Given the description of an element on the screen output the (x, y) to click on. 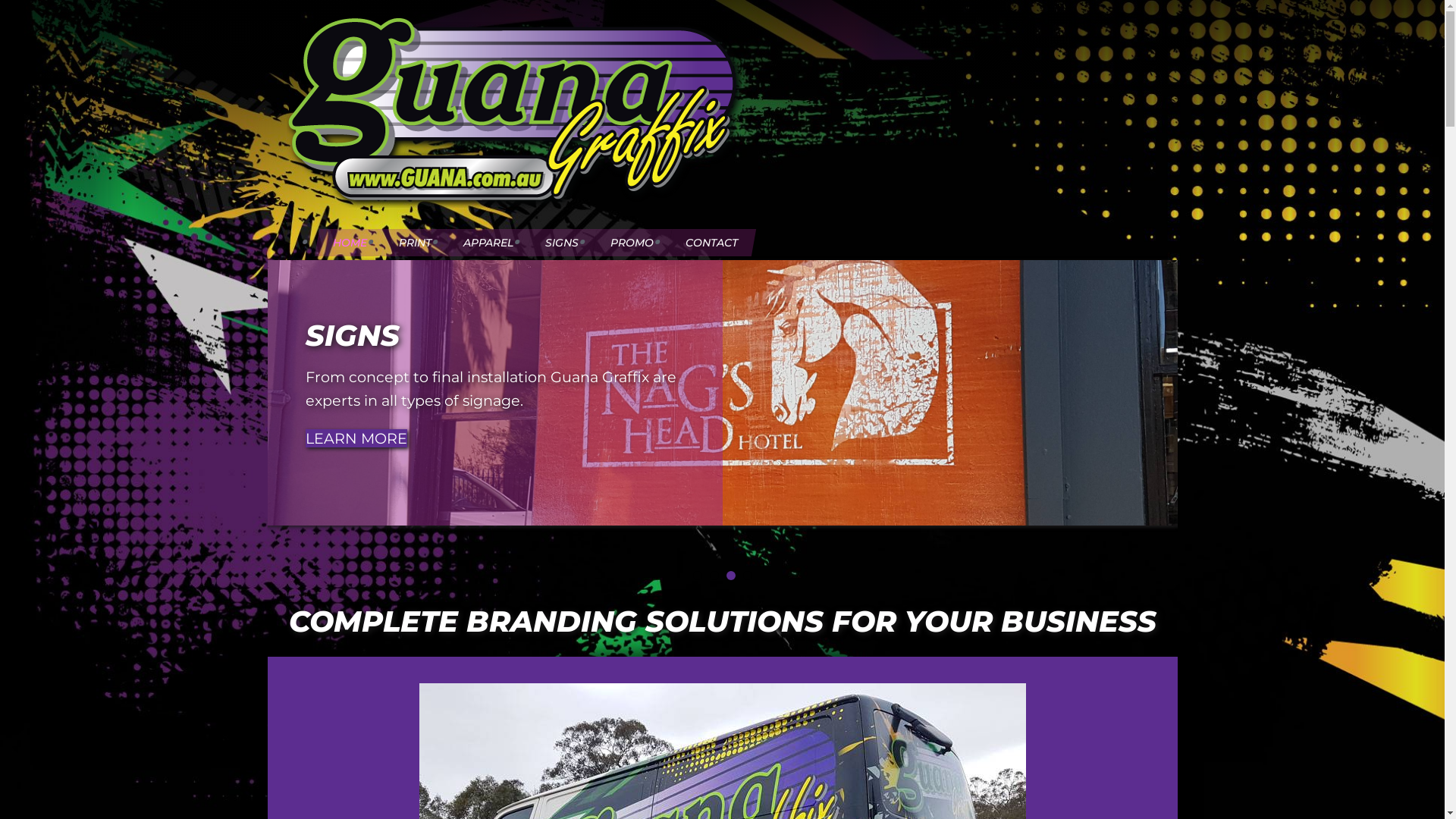
3 Element type: text (730, 575)
APPAREL Element type: text (488, 242)
CONTACT Element type: text (711, 242)
on Element type: text (294, 221)
1 Element type: text (697, 575)
4 Element type: text (747, 575)
SIGNS Element type: text (561, 242)
PROMO Element type: text (631, 242)
2 Element type: text (713, 575)
LEARN MORE Element type: text (355, 438)
HOME Element type: text (349, 242)
PRINT Element type: text (414, 242)
